Given the description of an element on the screen output the (x, y) to click on. 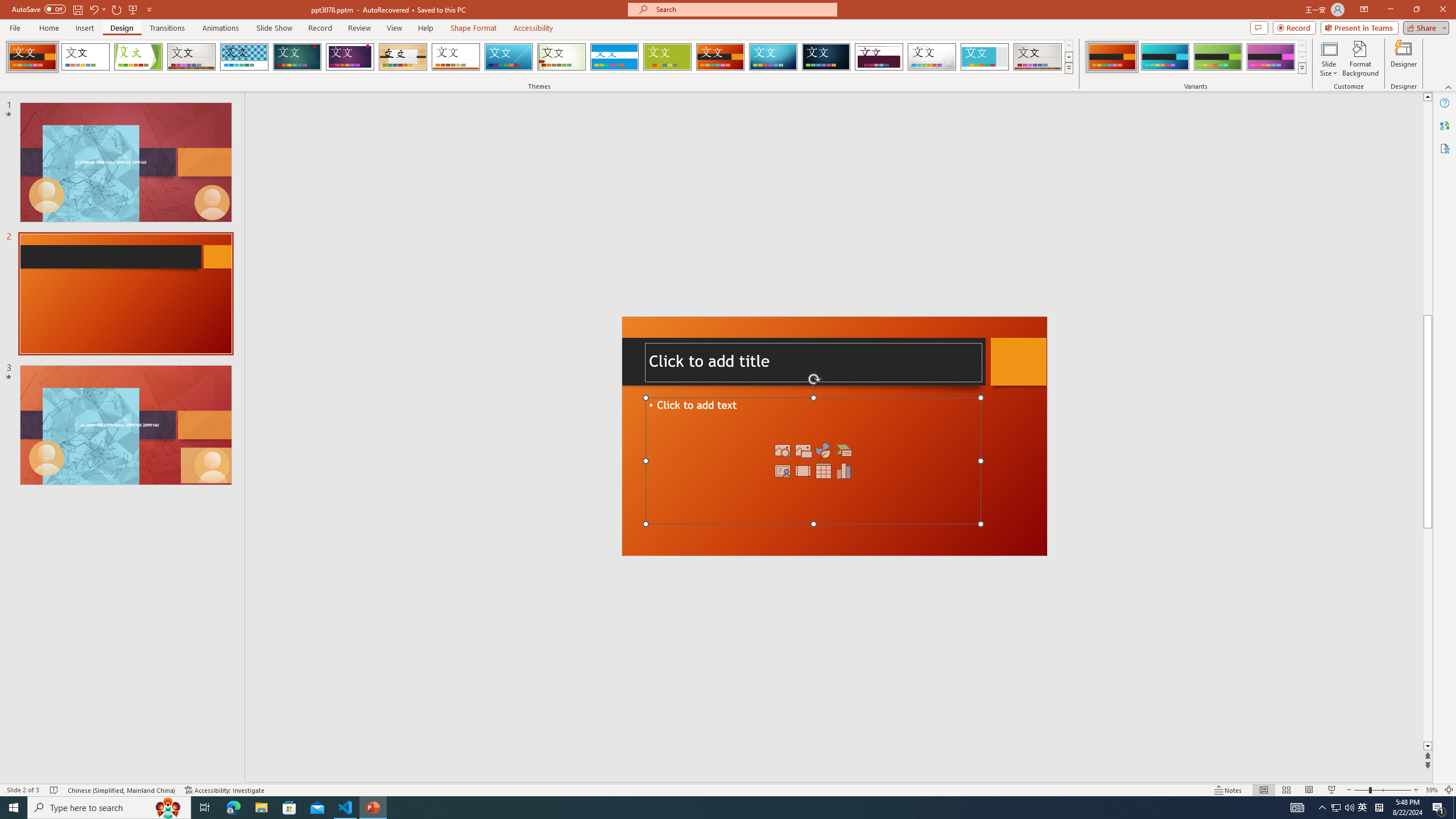
Berlin Variant 3 (1217, 56)
Insert Cameo (782, 470)
Basis (667, 56)
Translator (1444, 125)
Frame (984, 56)
Insert Chart (843, 470)
